Given the description of an element on the screen output the (x, y) to click on. 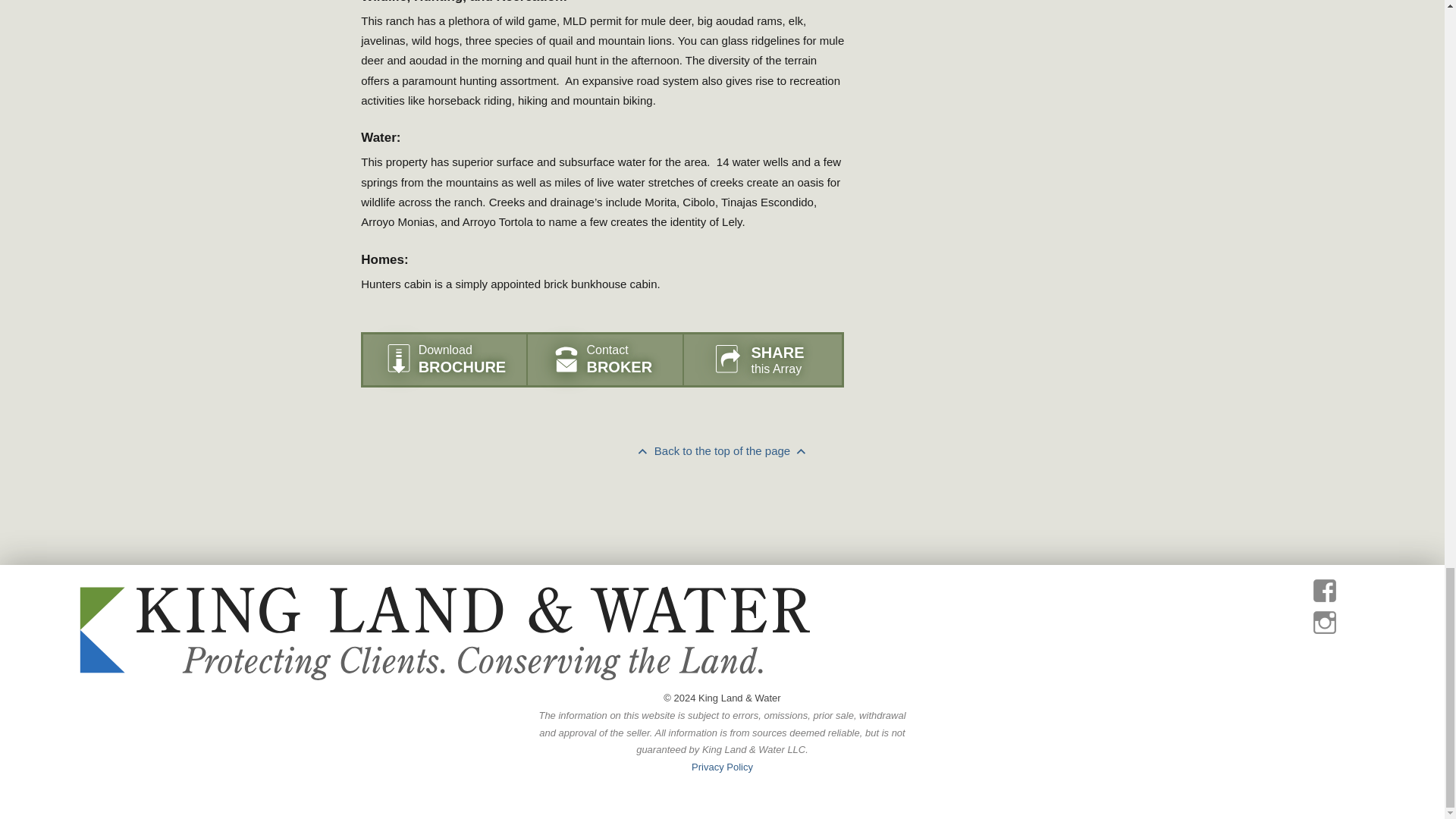
Twitter (777, 530)
Facebook (765, 530)
Email (790, 530)
